Given the description of an element on the screen output the (x, y) to click on. 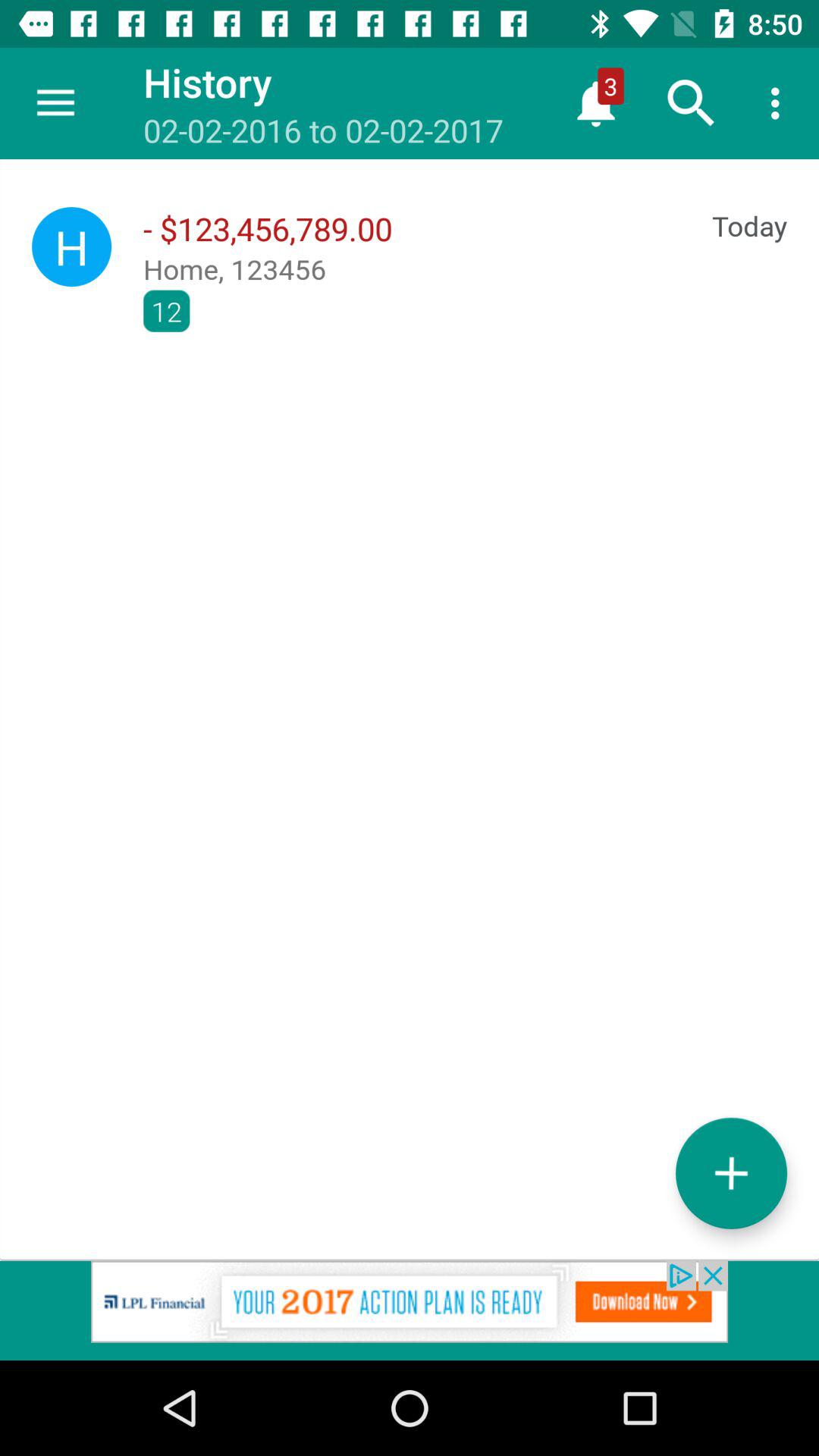
advertisement banner (409, 1310)
